Given the description of an element on the screen output the (x, y) to click on. 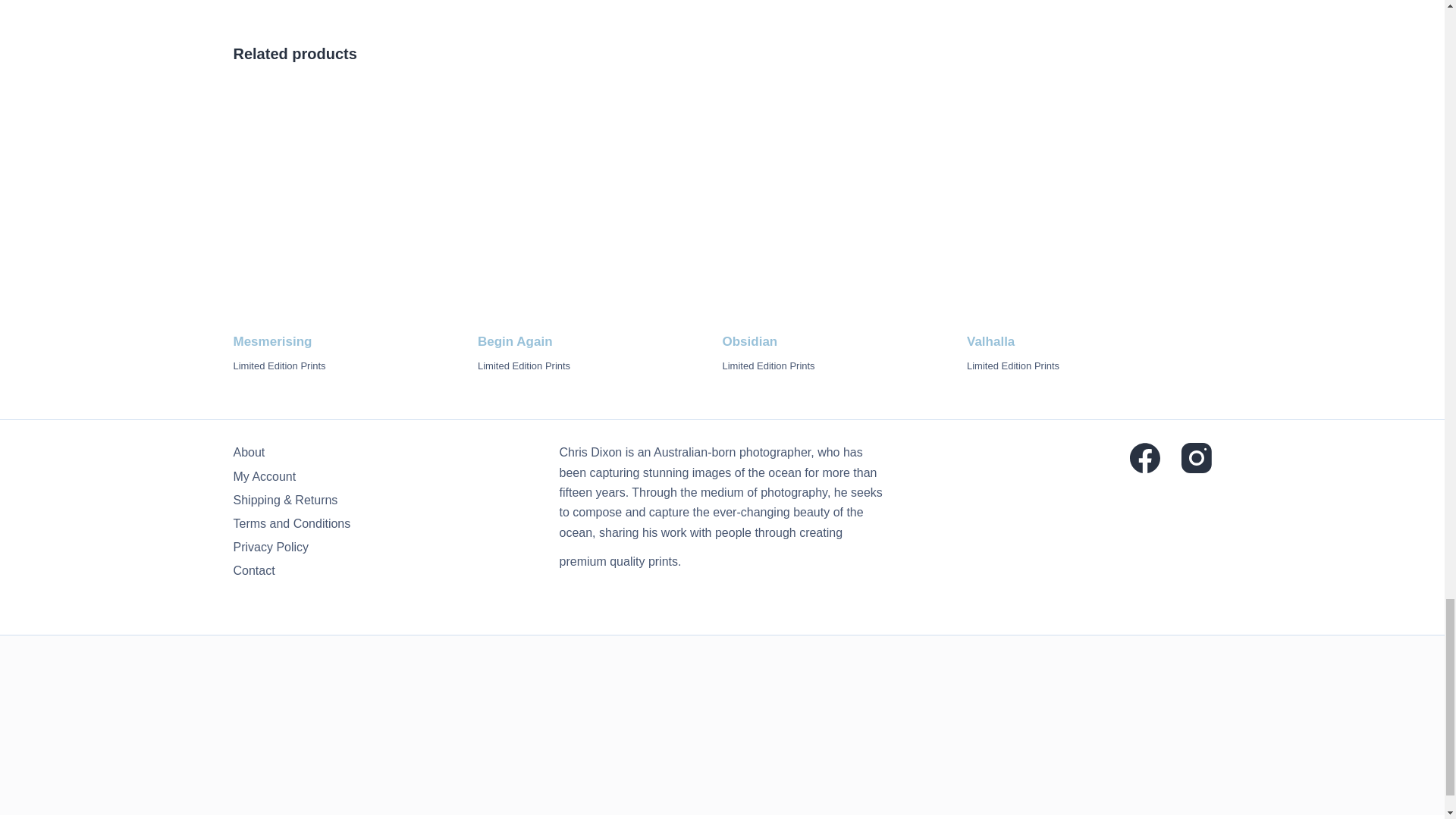
Begin-Again (599, 209)
Valhalla (1088, 209)
Mesmerising (355, 209)
Obsidian (844, 209)
